Given the description of an element on the screen output the (x, y) to click on. 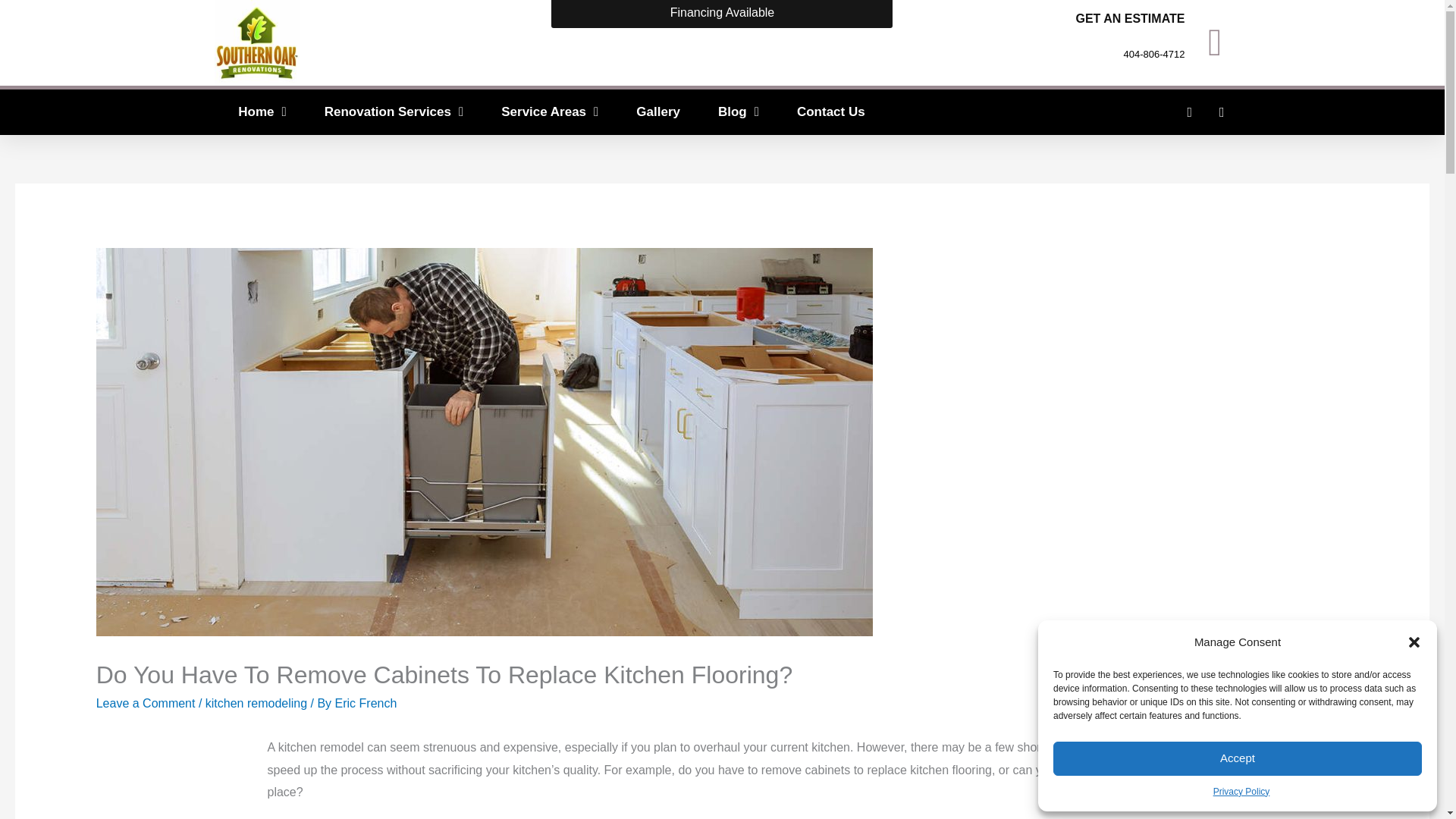
GET AN ESTIMATE (1130, 18)
Contact Us (830, 111)
View all posts by Eric French (365, 703)
Privacy Policy (1240, 791)
Blog (737, 111)
Renovation Services (393, 111)
Gallery (657, 111)
Home (261, 111)
Accept (1237, 758)
Financing Available (721, 13)
Service Areas (549, 111)
